Given the description of an element on the screen output the (x, y) to click on. 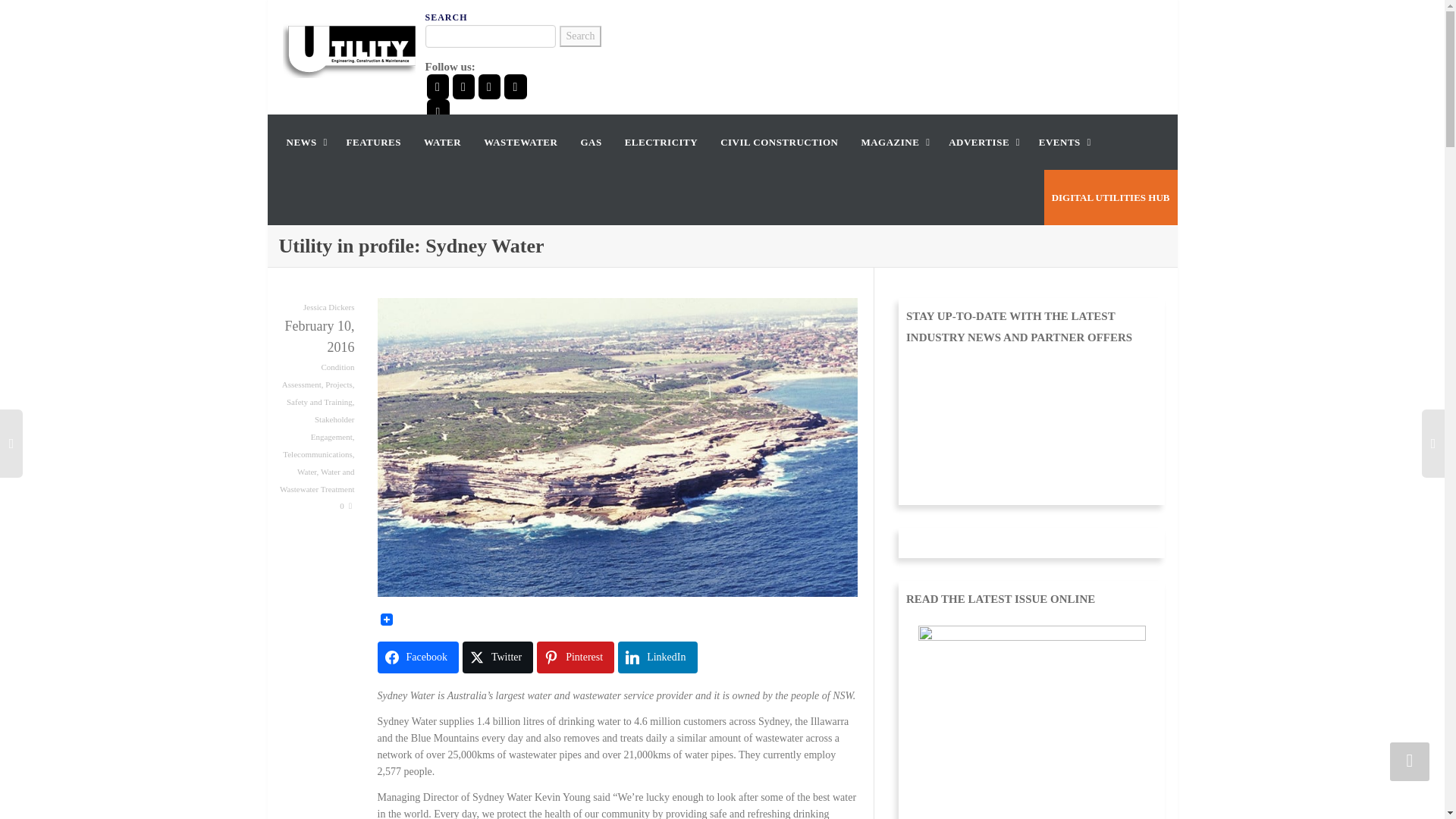
Utility Magazine (348, 49)
FEATURES (373, 141)
Electricity (661, 141)
Telecommunications (317, 453)
Features (373, 141)
CIVIL CONSTRUCTION (779, 141)
Search (579, 35)
Search (579, 35)
Jessica Dickers (328, 306)
Magazine (893, 141)
